Given the description of an element on the screen output the (x, y) to click on. 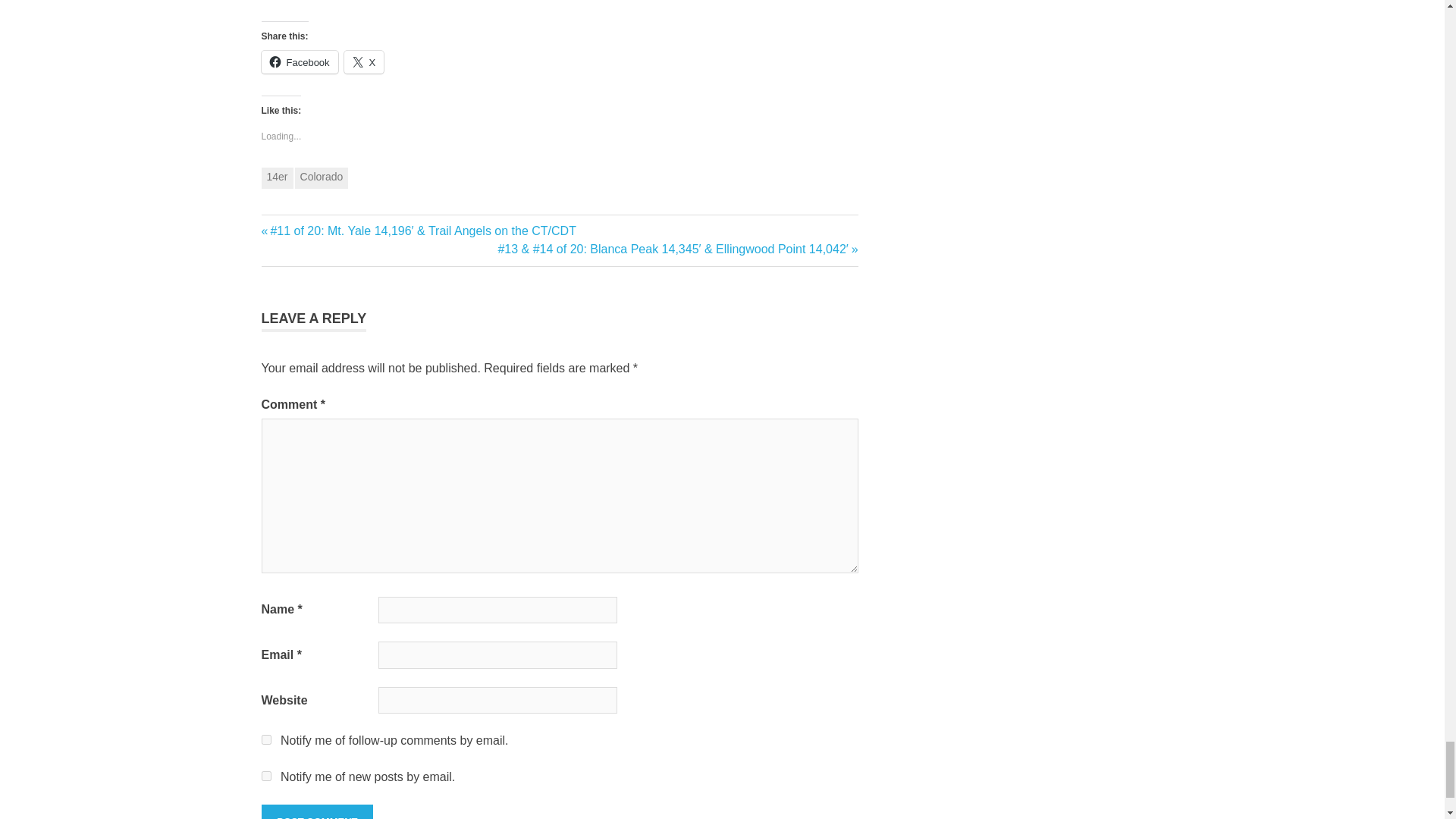
Click to share on Facebook (298, 61)
Click to share on X (363, 61)
subscribe (265, 776)
subscribe (265, 739)
Post Comment (316, 811)
